Given the description of an element on the screen output the (x, y) to click on. 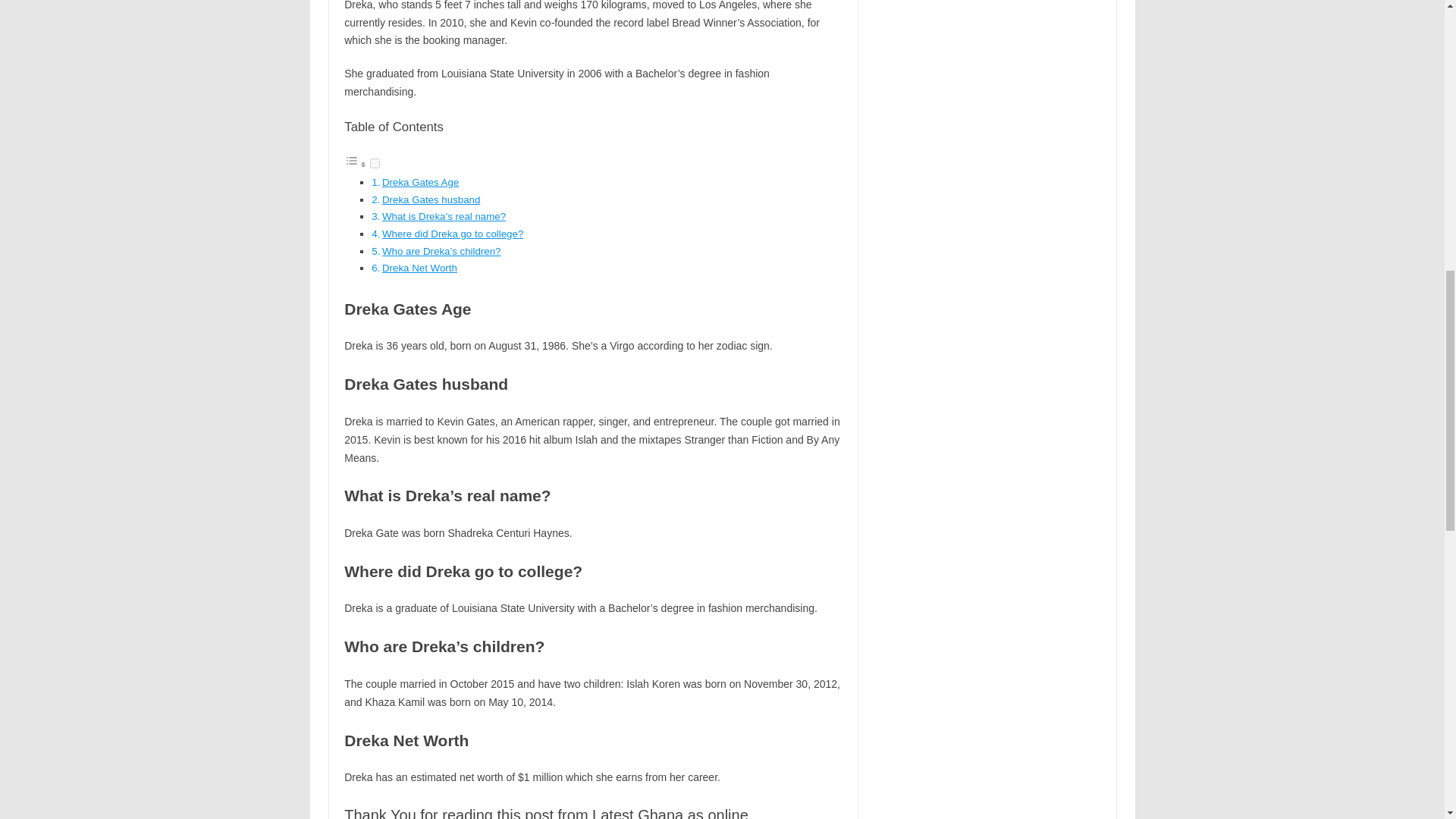
Dreka Gates Age (419, 182)
Dreka Gates husband (430, 199)
Dreka Gates husband (430, 199)
Dreka Net Worth (419, 267)
on (374, 163)
Dreka Net Worth (419, 267)
Where did Dreka go to college? (451, 233)
Where did Dreka go to college? (451, 233)
Dreka Gates Age (419, 182)
